Given the description of an element on the screen output the (x, y) to click on. 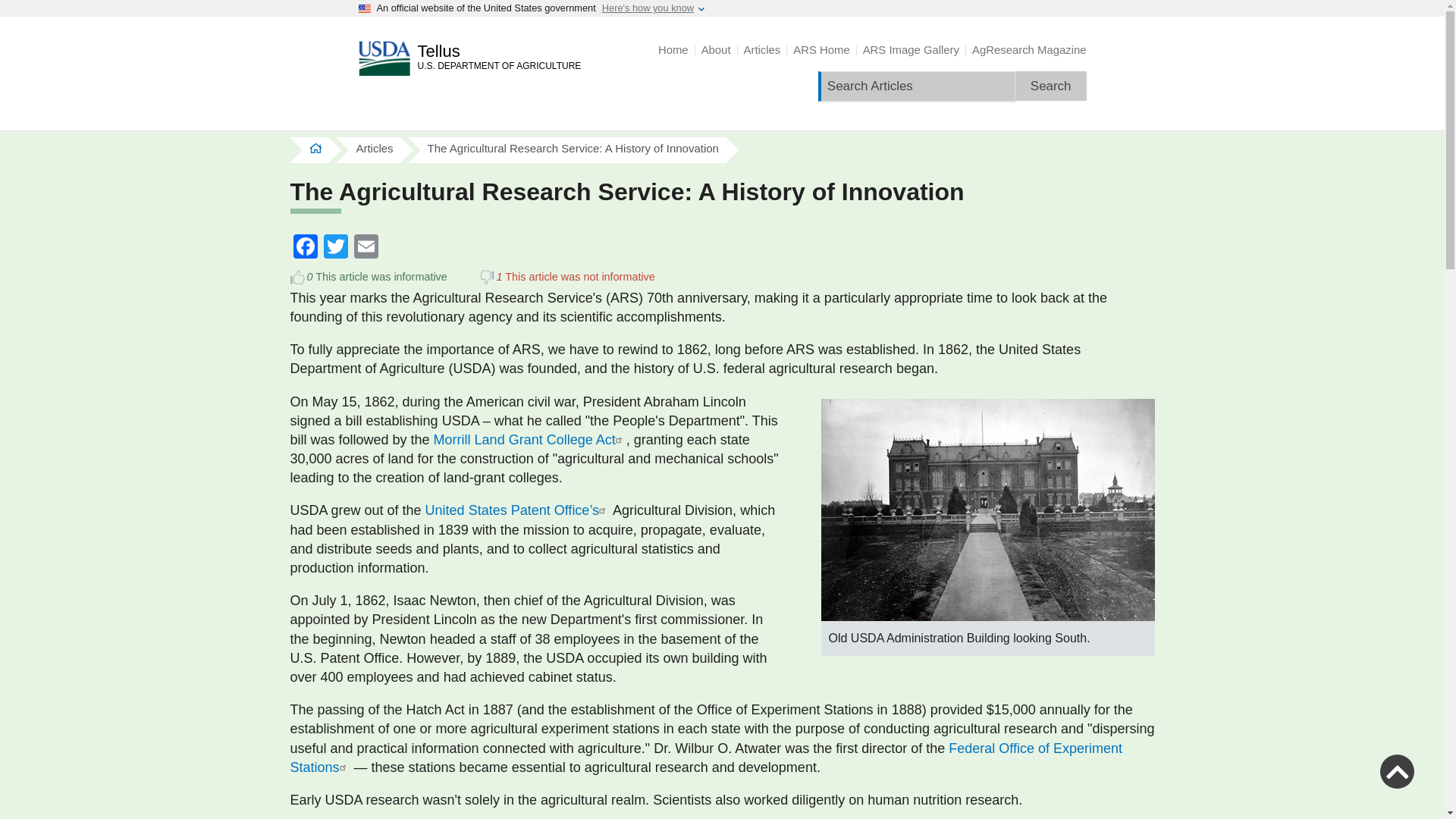
AgResearch Magazine (1029, 50)
ARS Image Gallery (911, 50)
Search (1050, 85)
Twitter (335, 245)
Email (365, 245)
1 This article was not informative (486, 277)
ARS Home (820, 50)
Home (673, 50)
Articles (762, 50)
Articles (374, 147)
